Given the description of an element on the screen output the (x, y) to click on. 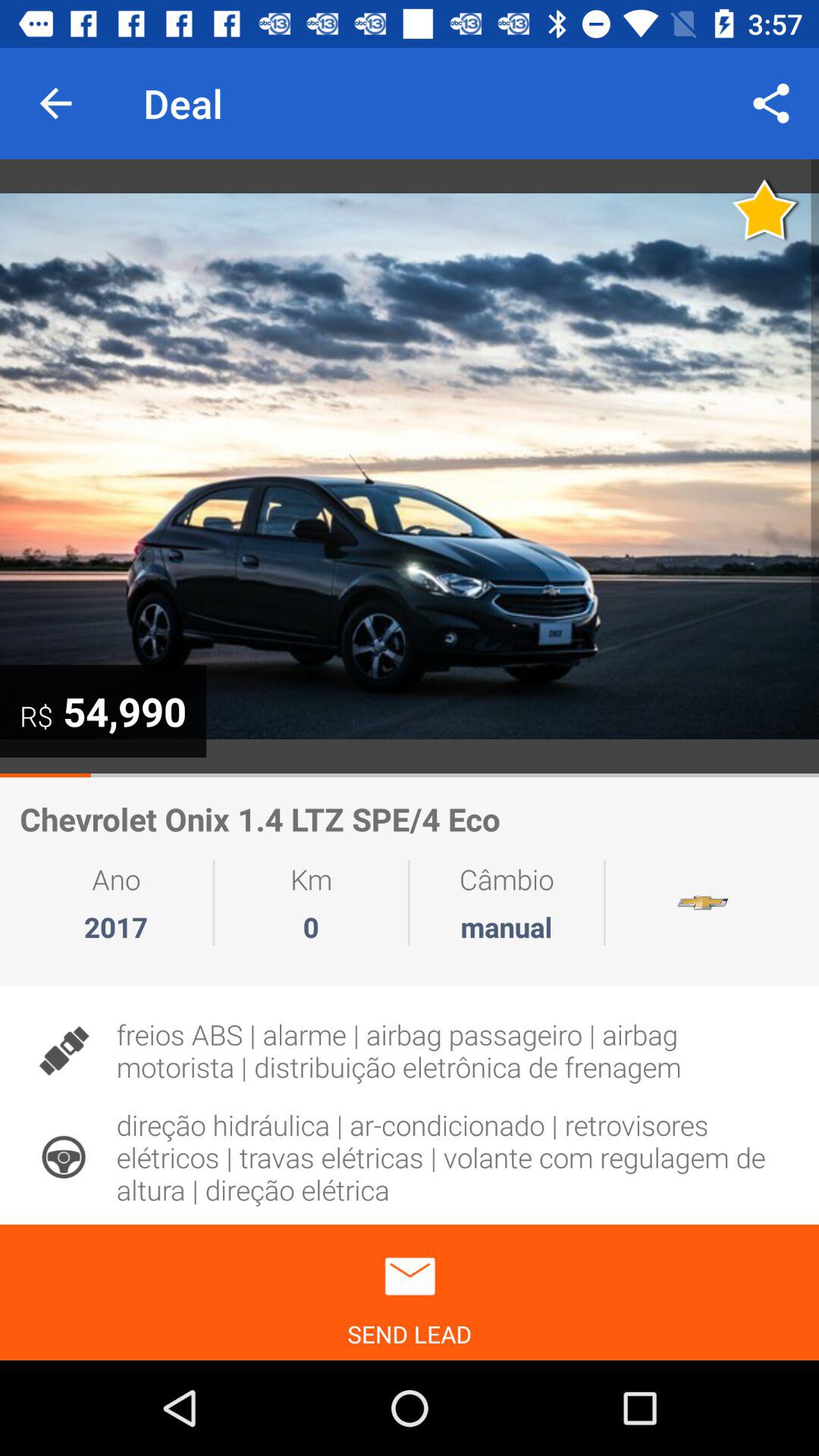
choose the icon next to deal item (55, 103)
